Given the description of an element on the screen output the (x, y) to click on. 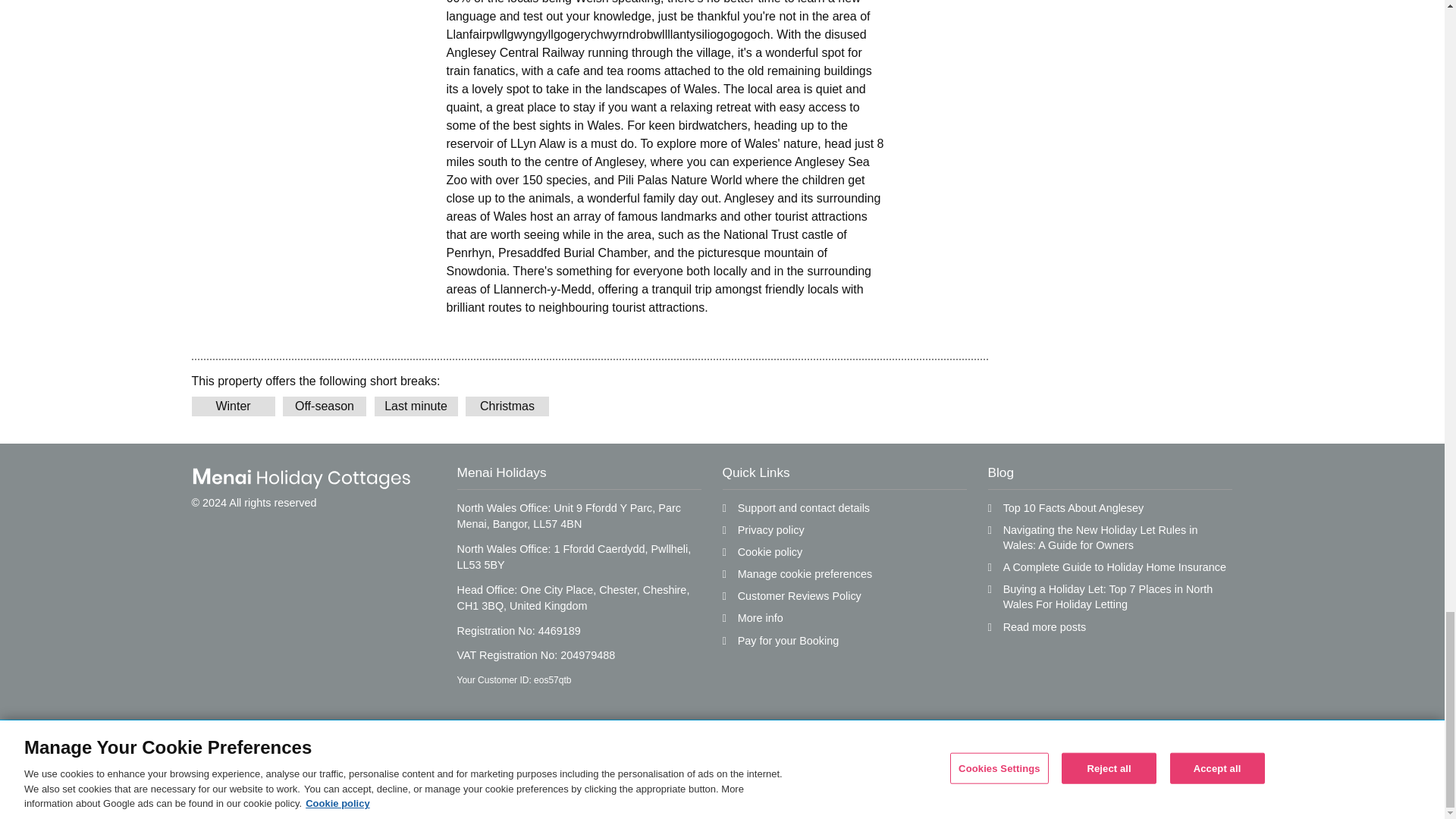
Menai Holiday Cottages (300, 478)
